Given the description of an element on the screen output the (x, y) to click on. 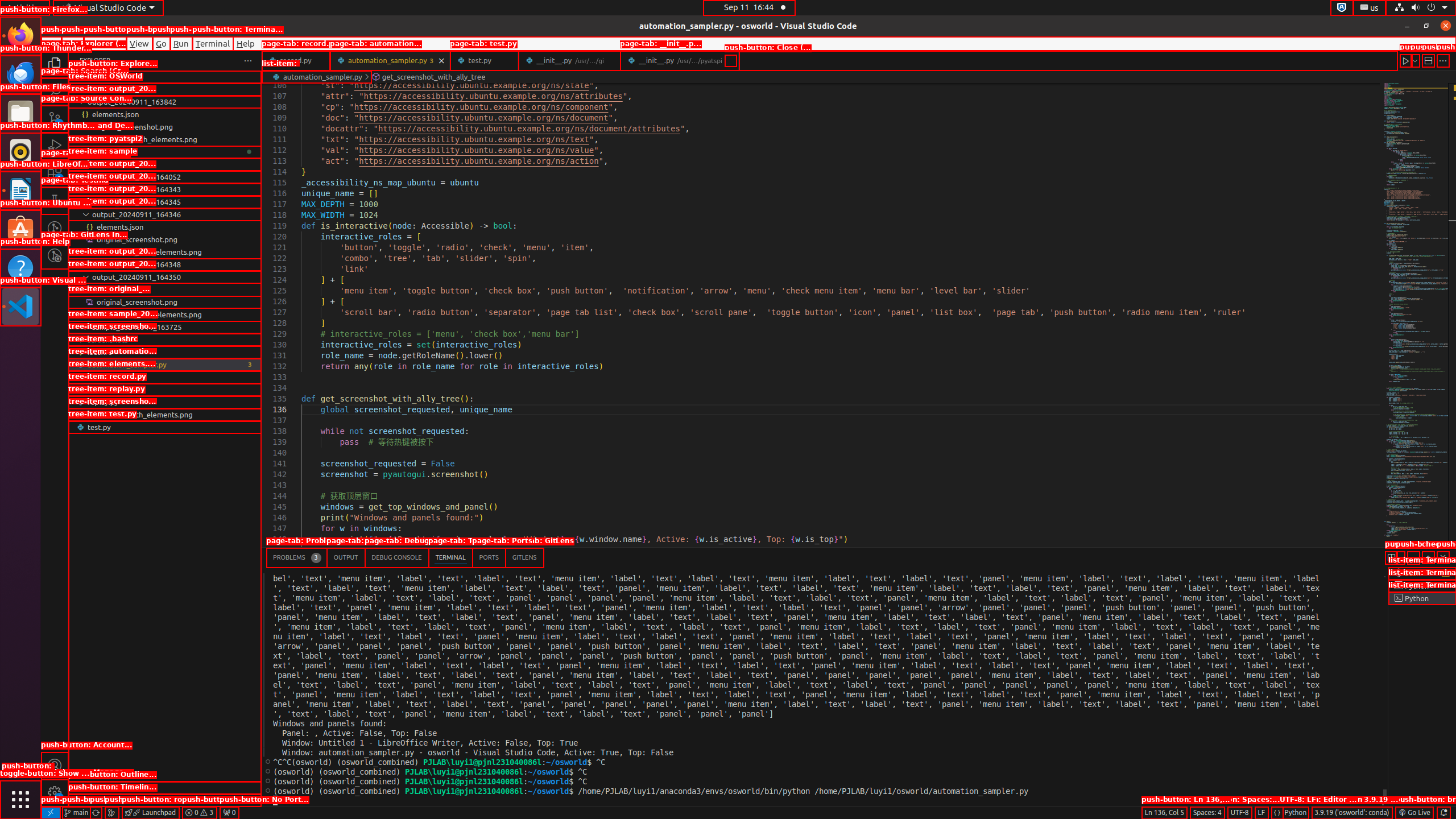
Split Editor Right (Ctrl+\) [Alt] Split Editor Down Element type: push-button (1427, 60)
OSWorld (Git) - Synchronize Changes Element type: push-button (95, 812)
elements.json Element type: tree-item (164, 376)
original_screenshot.png Element type: tree-item (164, 301)
Timeline Section Element type: push-button (164, 799)
